Given the description of an element on the screen output the (x, y) to click on. 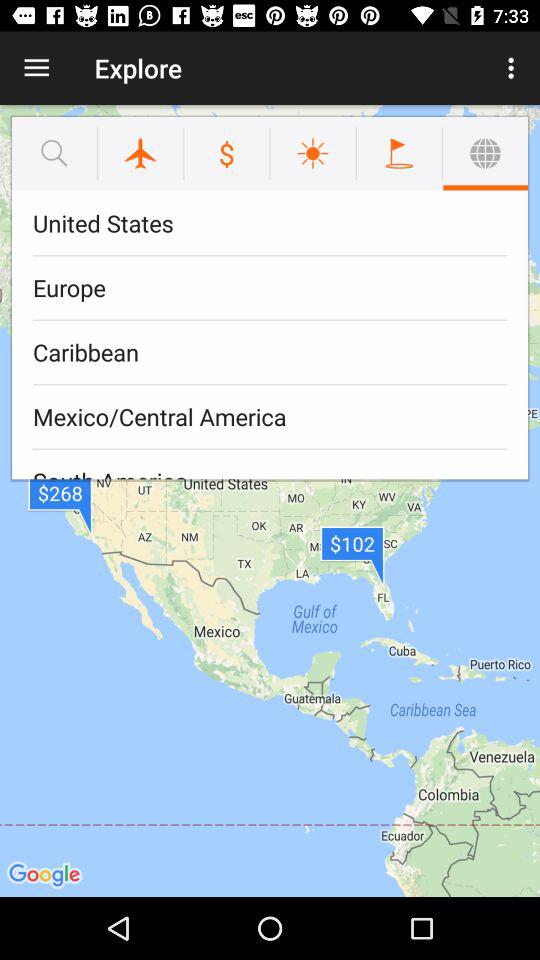
jump to the united states icon (270, 223)
